Given the description of an element on the screen output the (x, y) to click on. 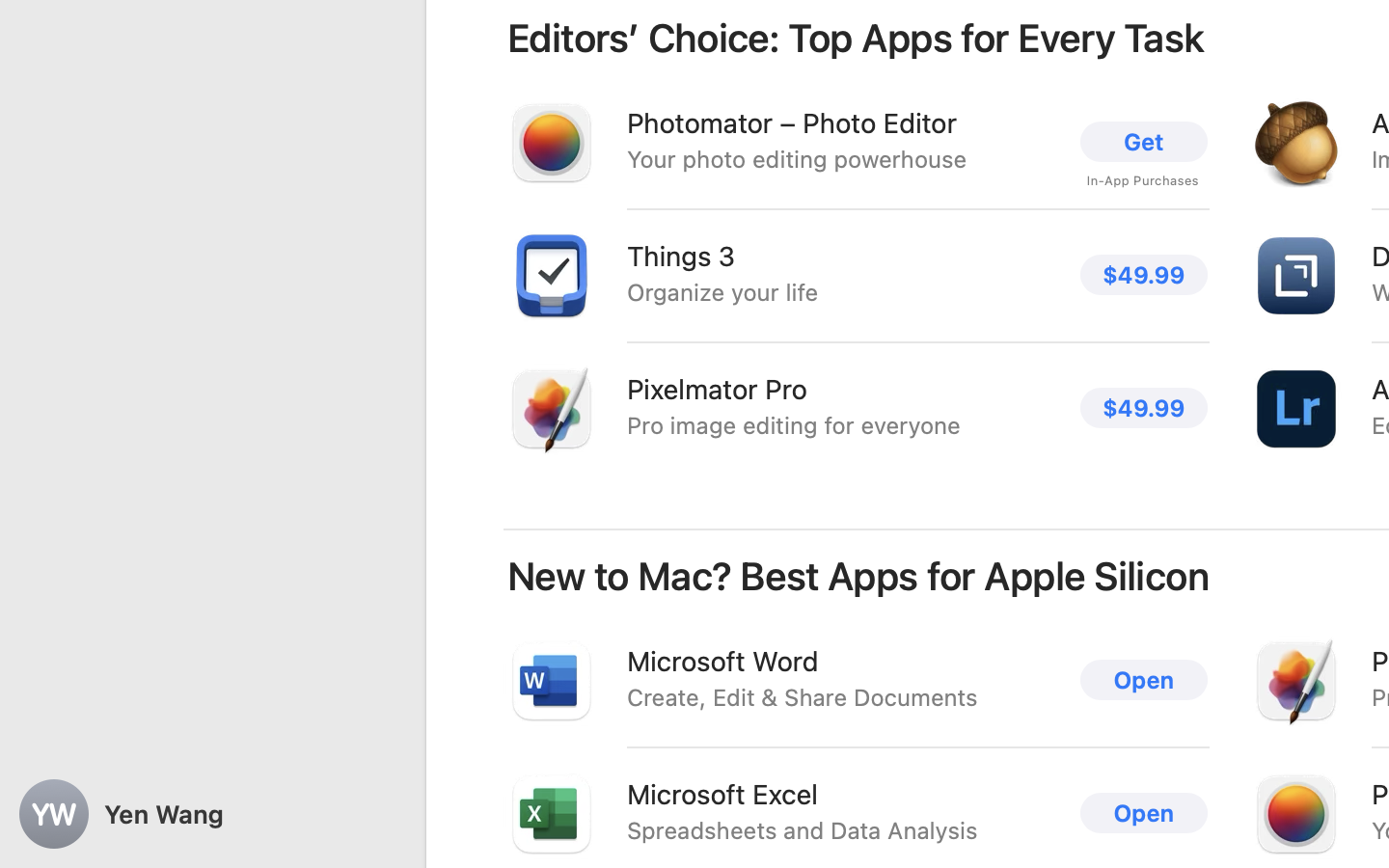
Editors’ Choice: Top Apps for Every Task Element type: AXStaticText (856, 38)
New to Mac? Best Apps for Apple Silicon Element type: AXStaticText (858, 576)
Yen Wang Element type: AXButton (212, 813)
